Given the description of an element on the screen output the (x, y) to click on. 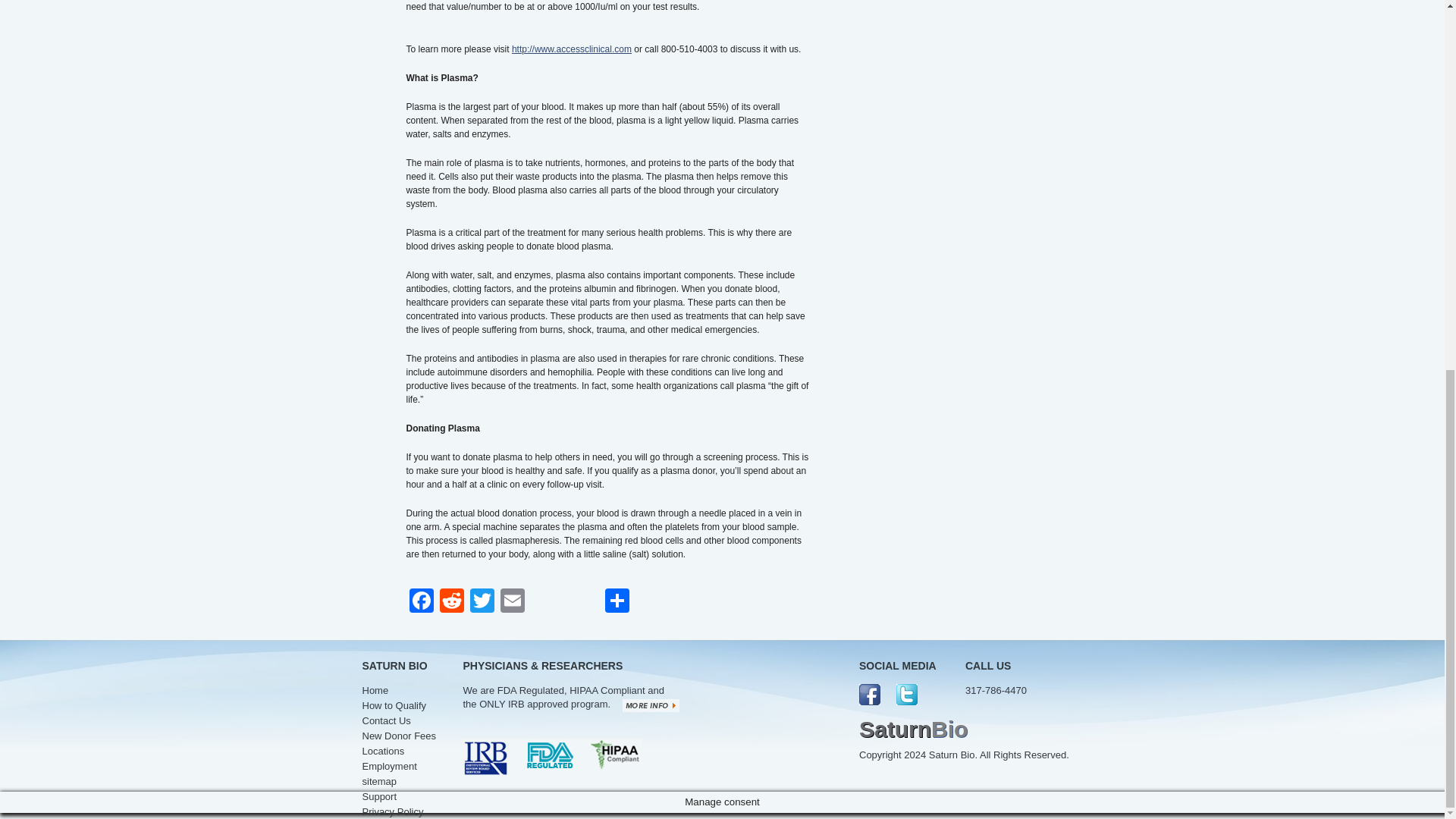
Support (379, 796)
Employment (389, 766)
New Donor Fees (399, 736)
Twitter (482, 602)
Share (616, 602)
Twitter (482, 602)
SaturnBio (913, 728)
Contact Us (386, 720)
Reddit (451, 602)
Facebook (421, 602)
How to Qualify (394, 705)
sitemap (379, 781)
SaturnBio (913, 728)
Reddit (451, 602)
Privacy Policy (392, 811)
